Given the description of an element on the screen output the (x, y) to click on. 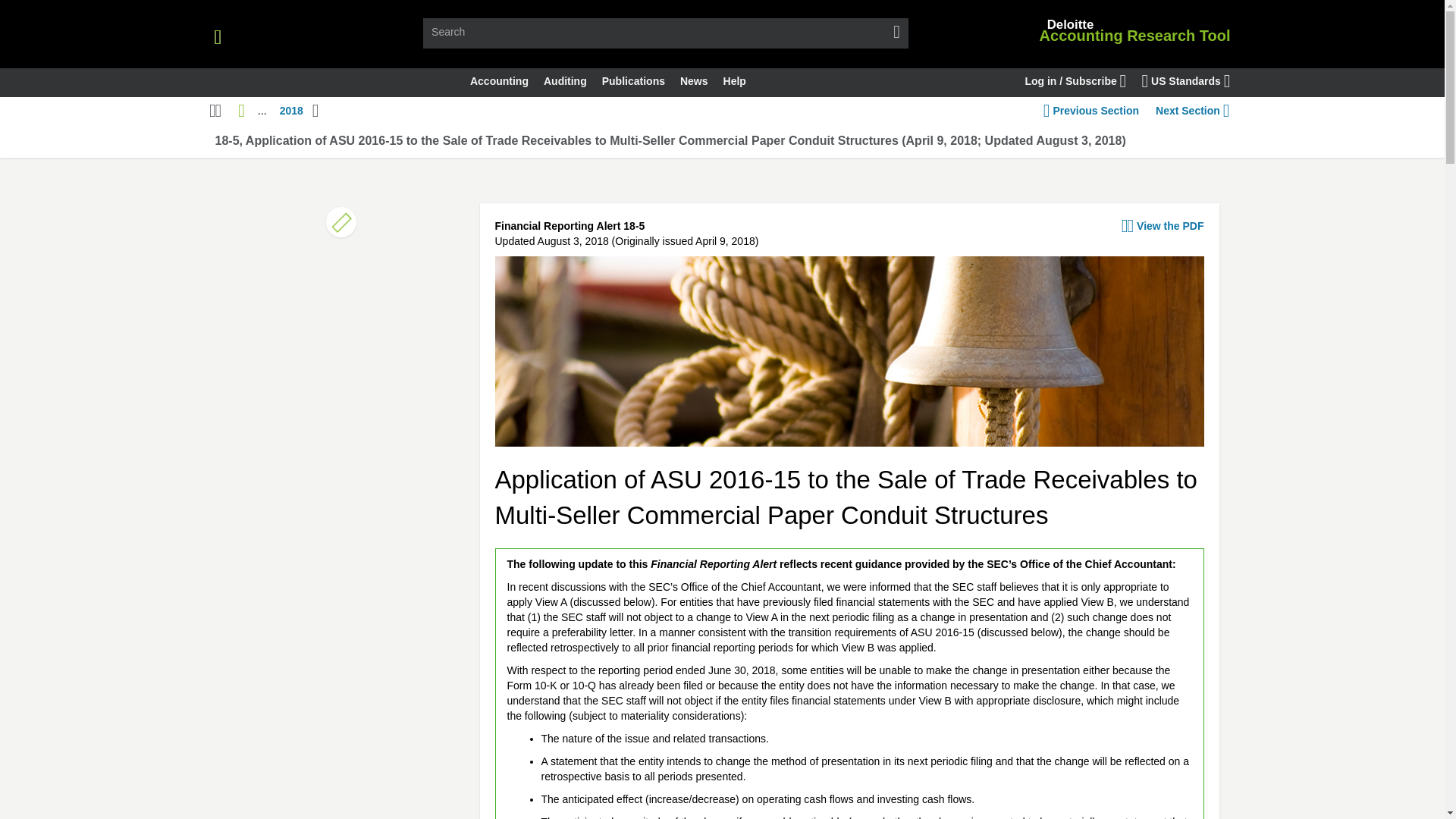
News (694, 82)
Publications (633, 82)
Help (735, 82)
Accounting (499, 82)
Auditing (564, 82)
US Standards (1185, 82)
